Given the description of an element on the screen output the (x, y) to click on. 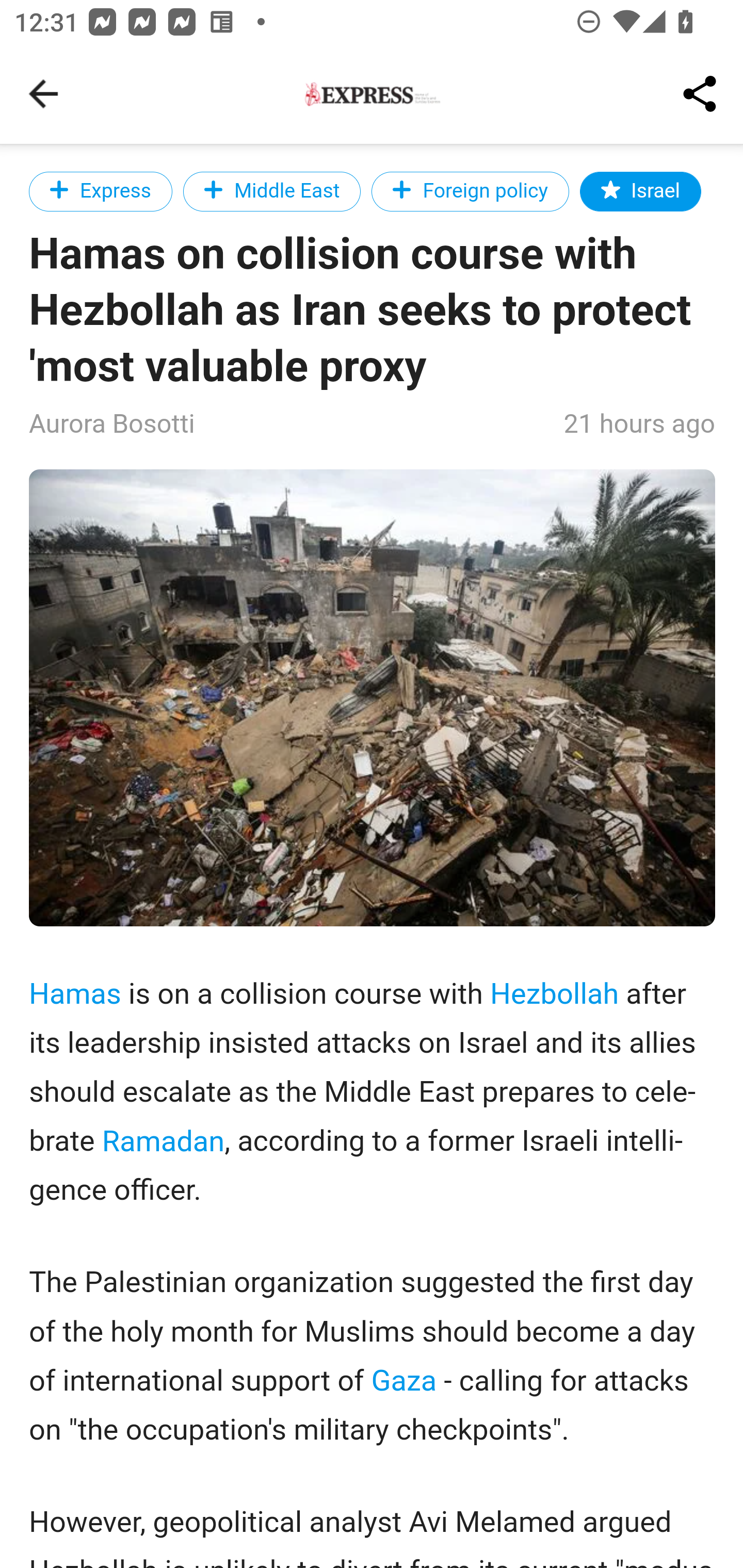
Express (100, 191)
Middle East (272, 191)
Foreign policy (470, 191)
Israel (640, 191)
Hamas (75, 993)
Hezbollah (553, 993)
Ramadan (163, 1139)
Gaza (404, 1380)
